Given the description of an element on the screen output the (x, y) to click on. 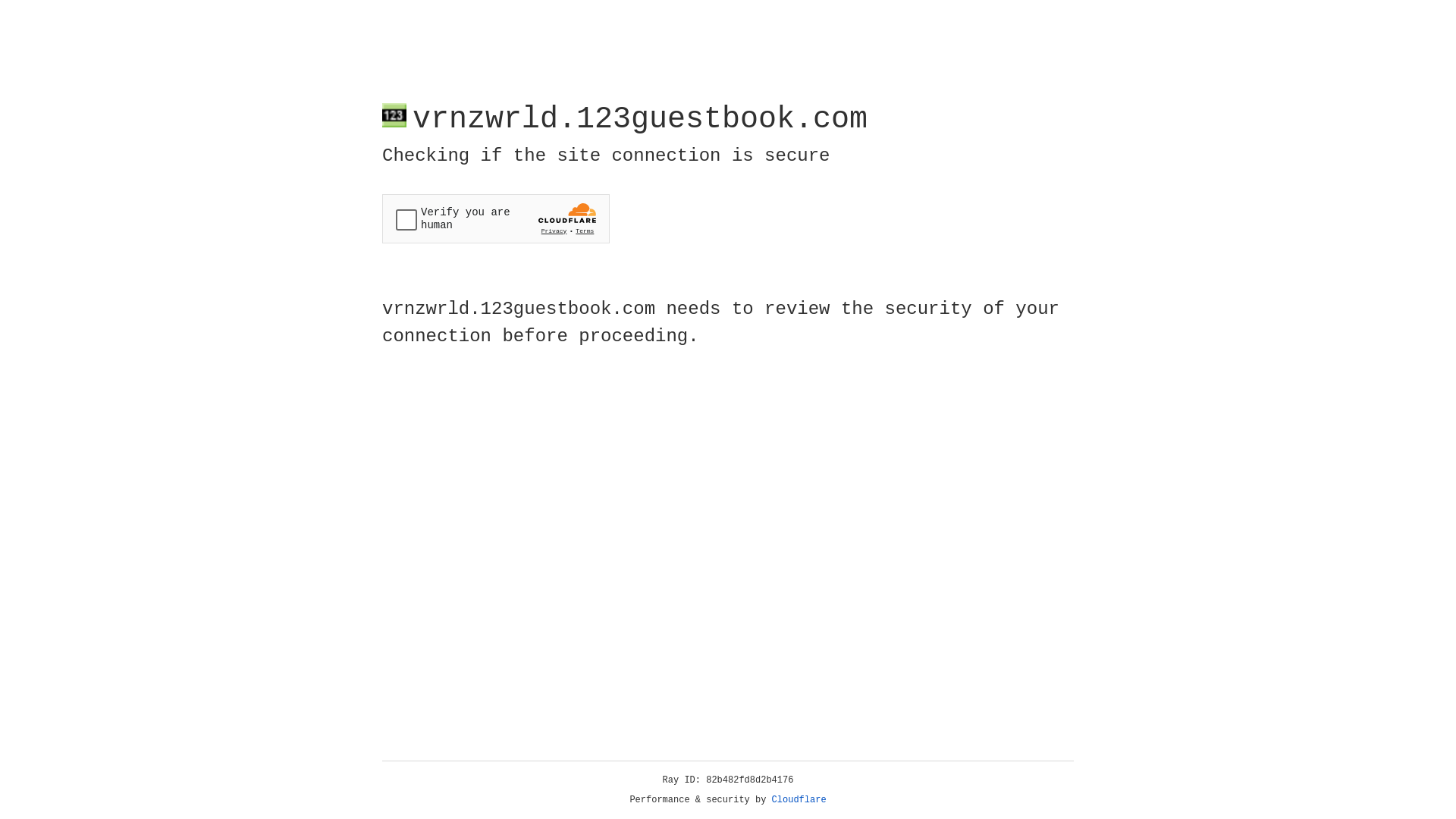
Widget containing a Cloudflare security challenge Element type: hover (495, 218)
Cloudflare Element type: text (798, 799)
